Given the description of an element on the screen output the (x, y) to click on. 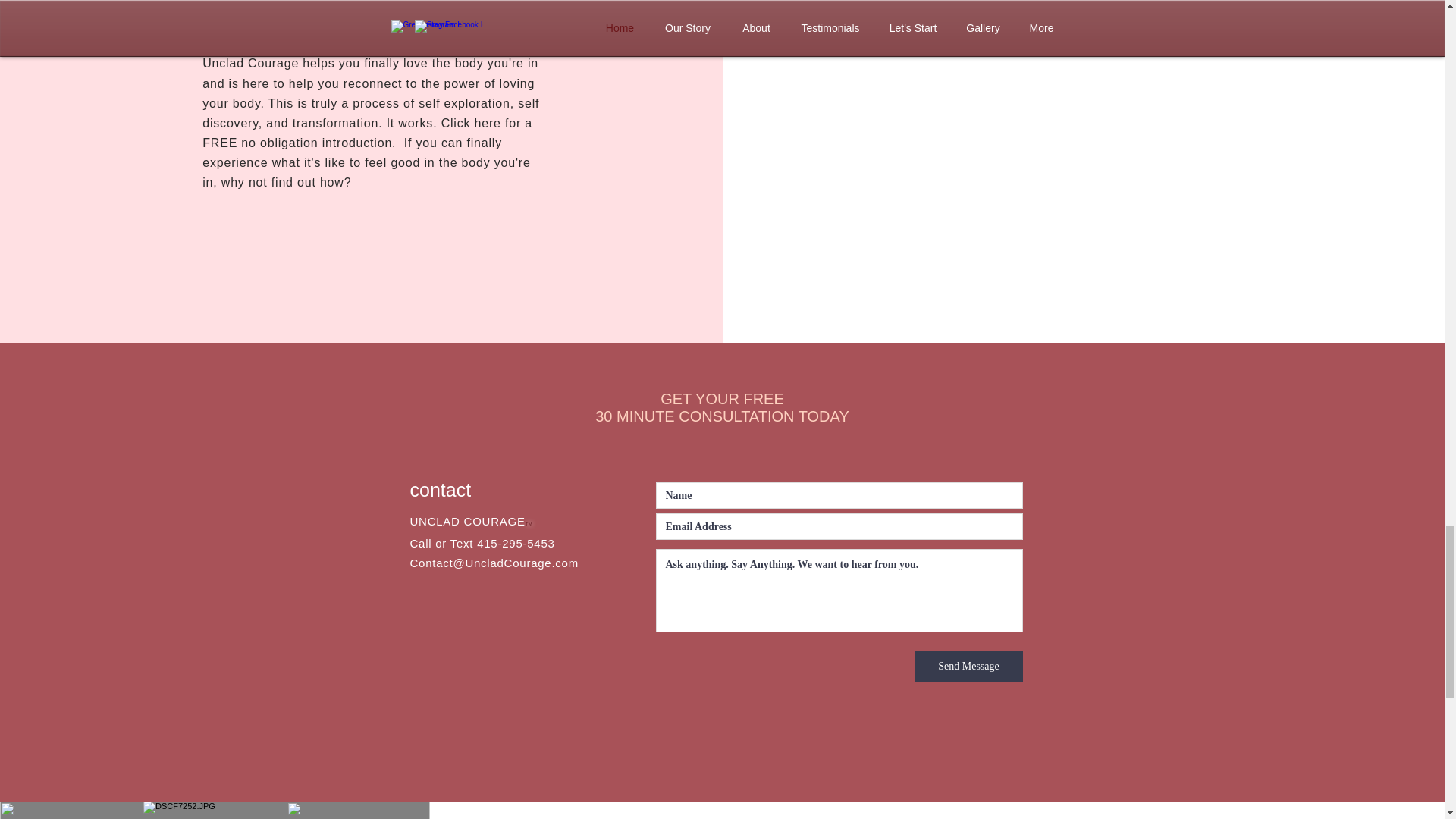
Send Message (968, 666)
